Given the description of an element on the screen output the (x, y) to click on. 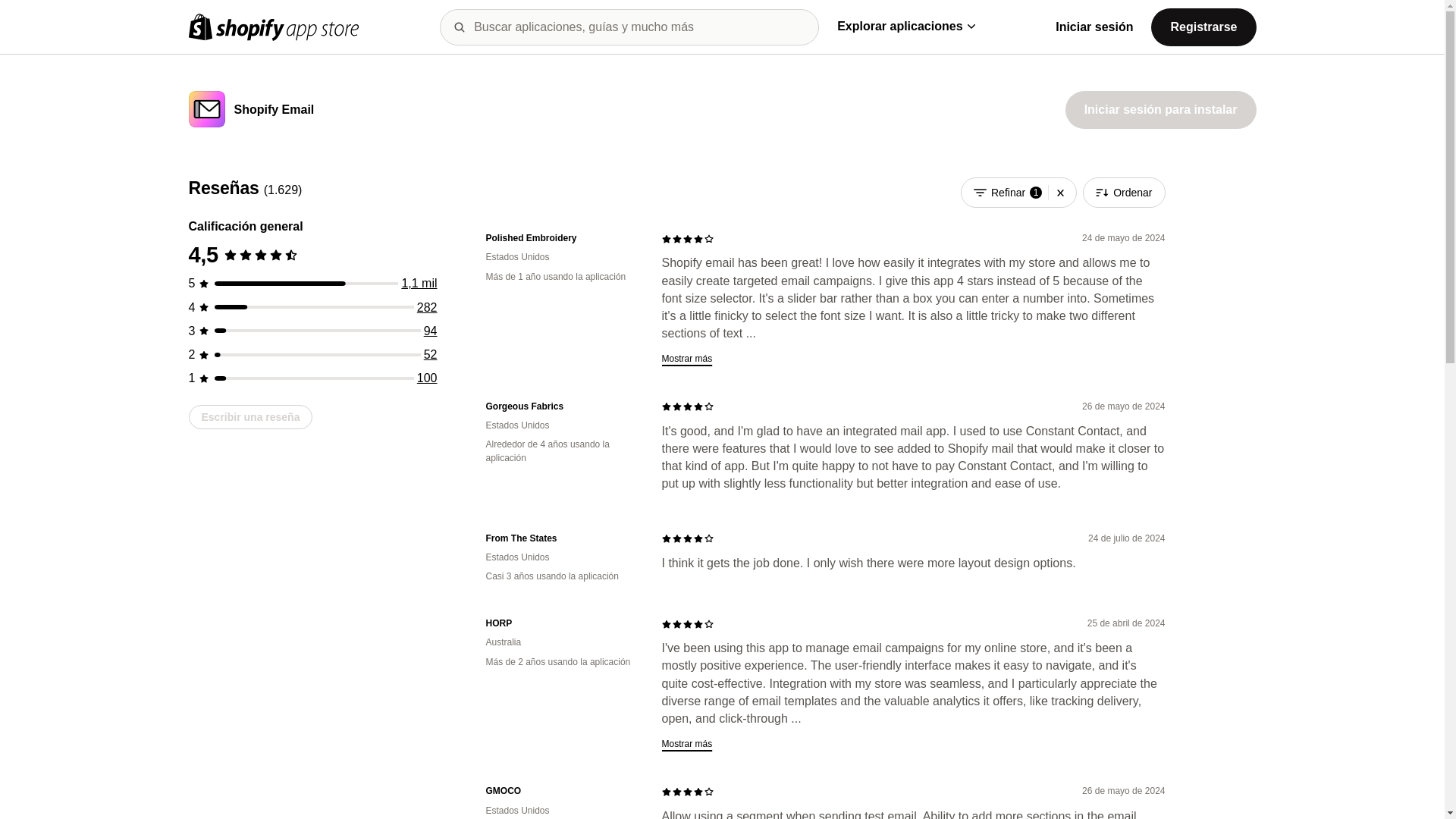
Registrarse (1203, 26)
Shopify Email (273, 110)
100 (427, 377)
52 (430, 354)
Gorgeous Fabrics (560, 406)
Polished Embroidery (560, 237)
282 (427, 307)
GMOCO (560, 790)
Explorar aplicaciones (905, 26)
From The States (560, 538)
1,1 mil (418, 282)
HORP (560, 623)
94 (430, 330)
